Given the description of an element on the screen output the (x, y) to click on. 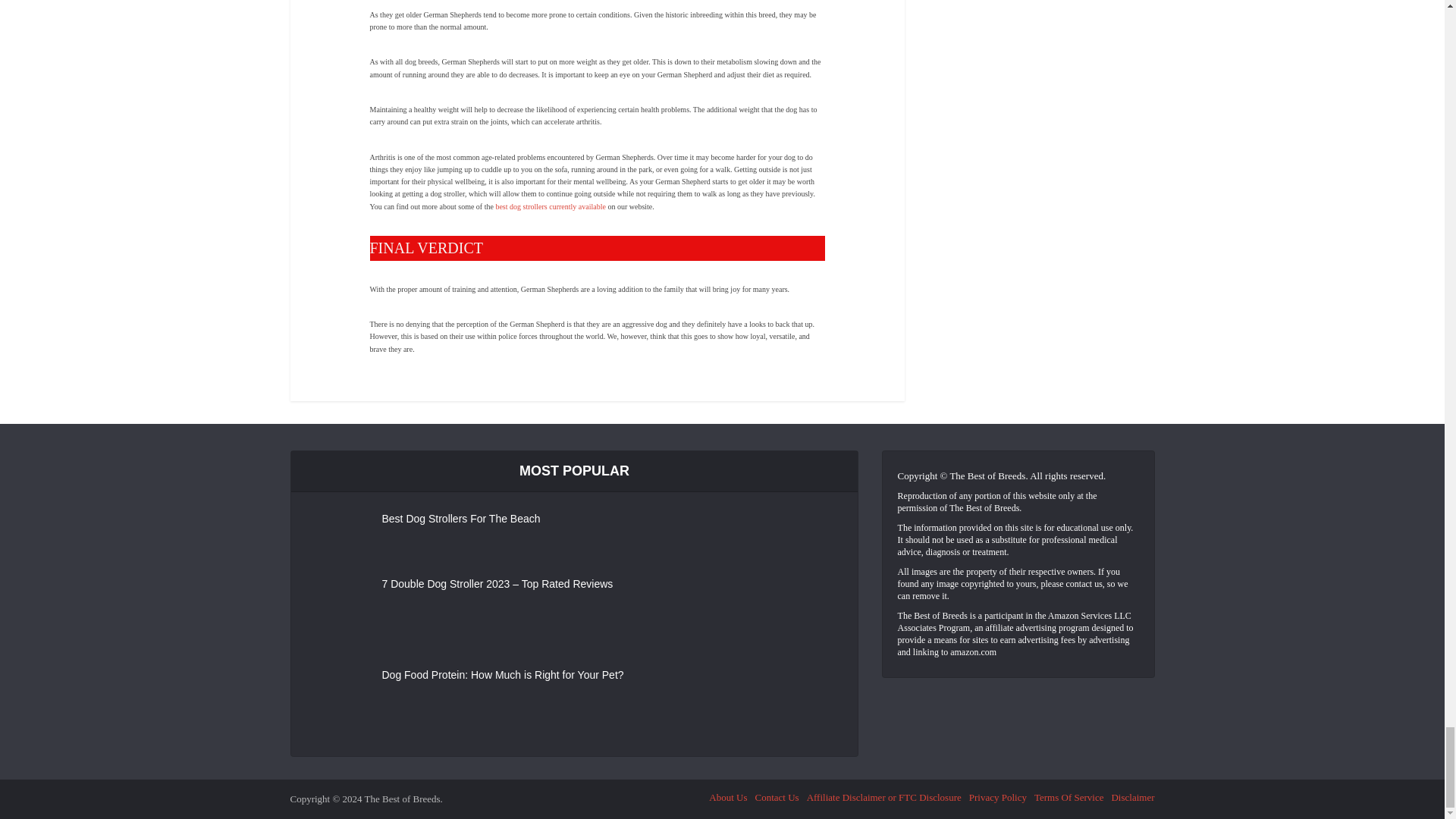
Dog Food Protein: How Much is Right for Your Pet? (531, 672)
Best Dog Strollers For The Beach (531, 516)
best dog strollers currently available (550, 206)
